Given the description of an element on the screen output the (x, y) to click on. 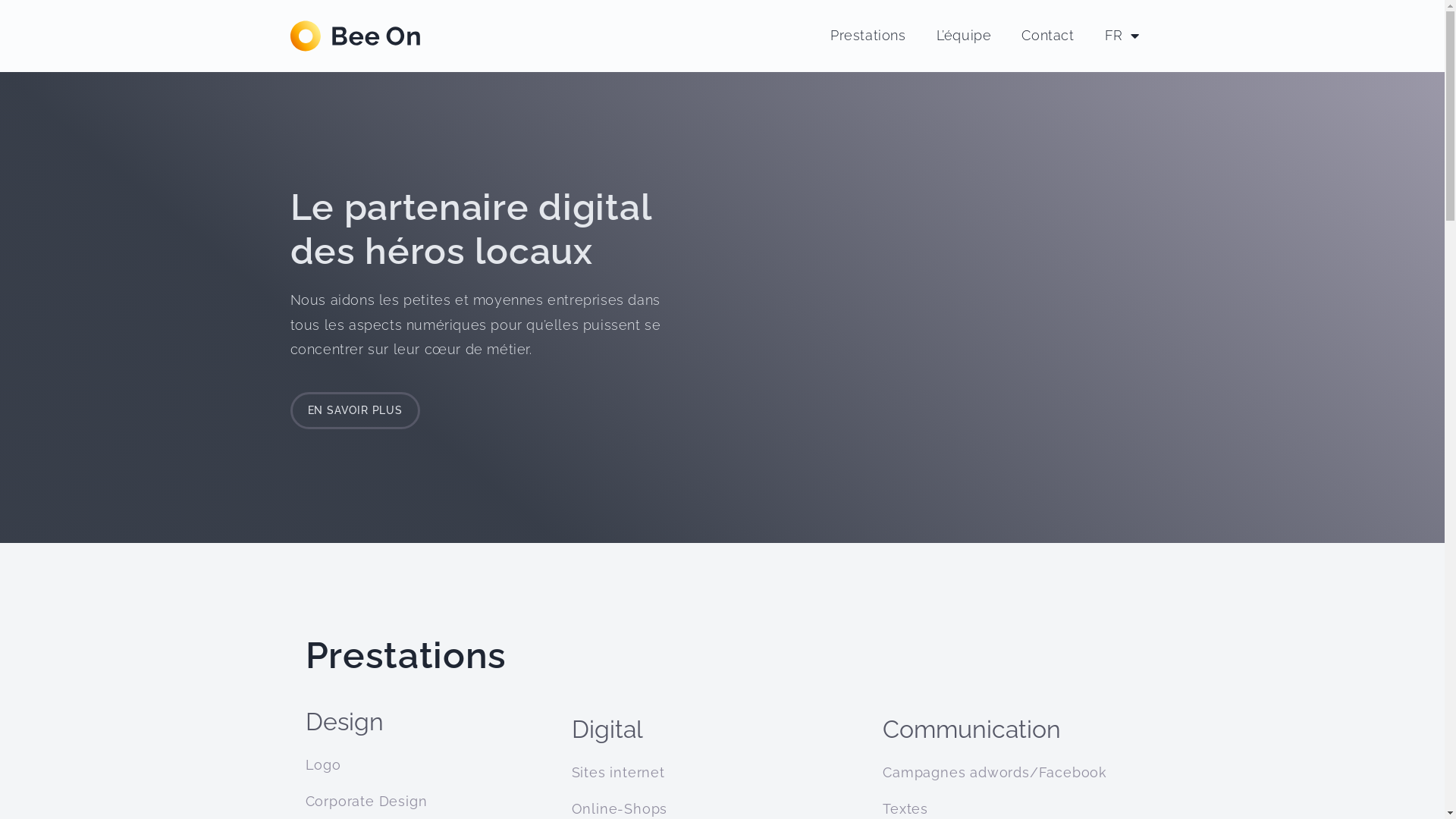
EN SAVOIR PLUS Element type: text (354, 410)
Prestations Element type: text (868, 35)
Contact Element type: text (1047, 35)
FR Element type: text (1121, 35)
